Given the description of an element on the screen output the (x, y) to click on. 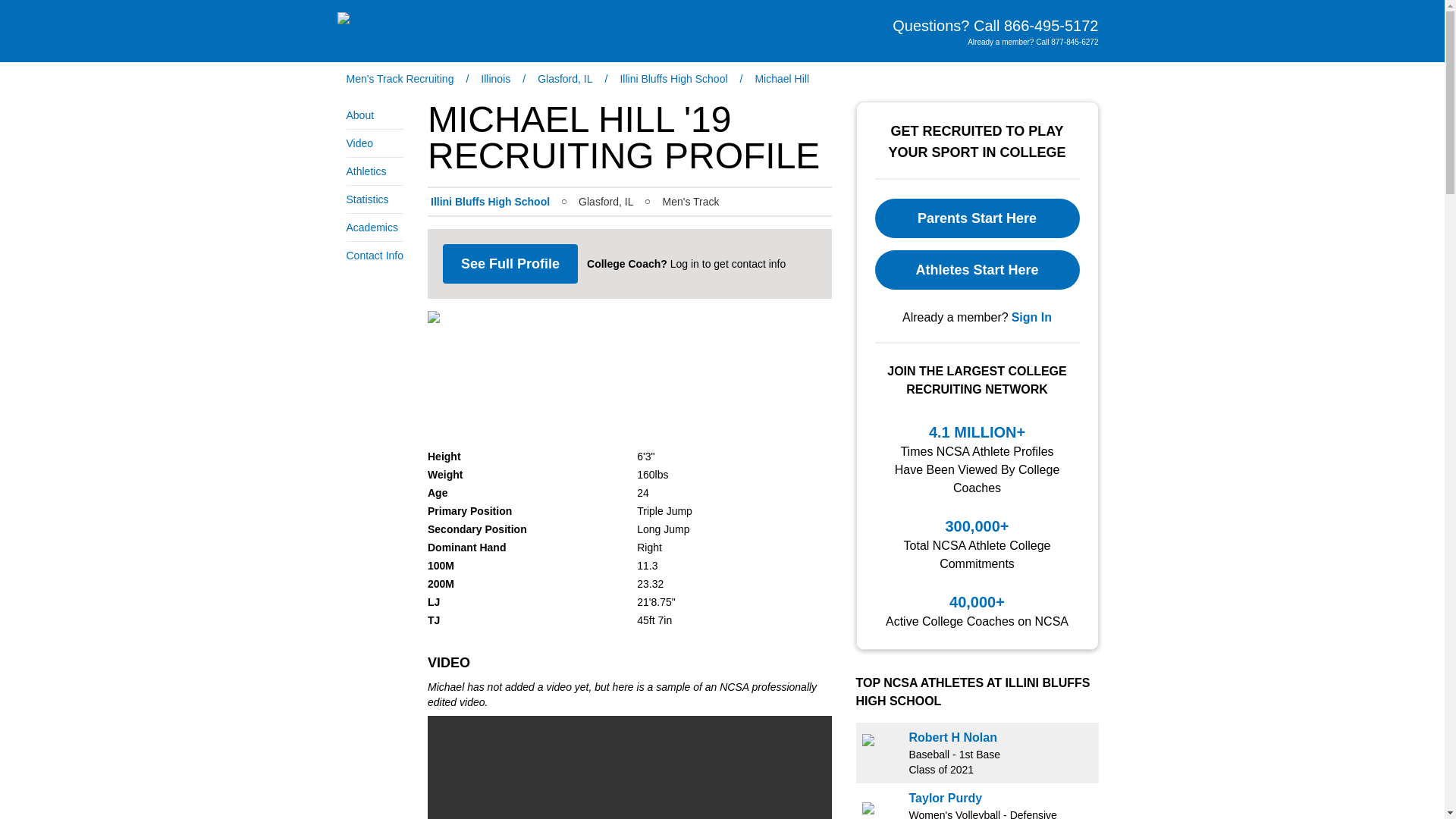
Sign In (1031, 317)
Illinois (495, 78)
Parents Start Here (977, 218)
See Full Profile (510, 263)
Already a member? Call 877-845-6272 (1032, 41)
Men's Track Recruiting (399, 78)
Questions? Call 866-495-5172 (994, 25)
Athletes Start Here (977, 269)
Illini Bluffs High School (673, 78)
Taylor Purdy (944, 797)
